Given the description of an element on the screen output the (x, y) to click on. 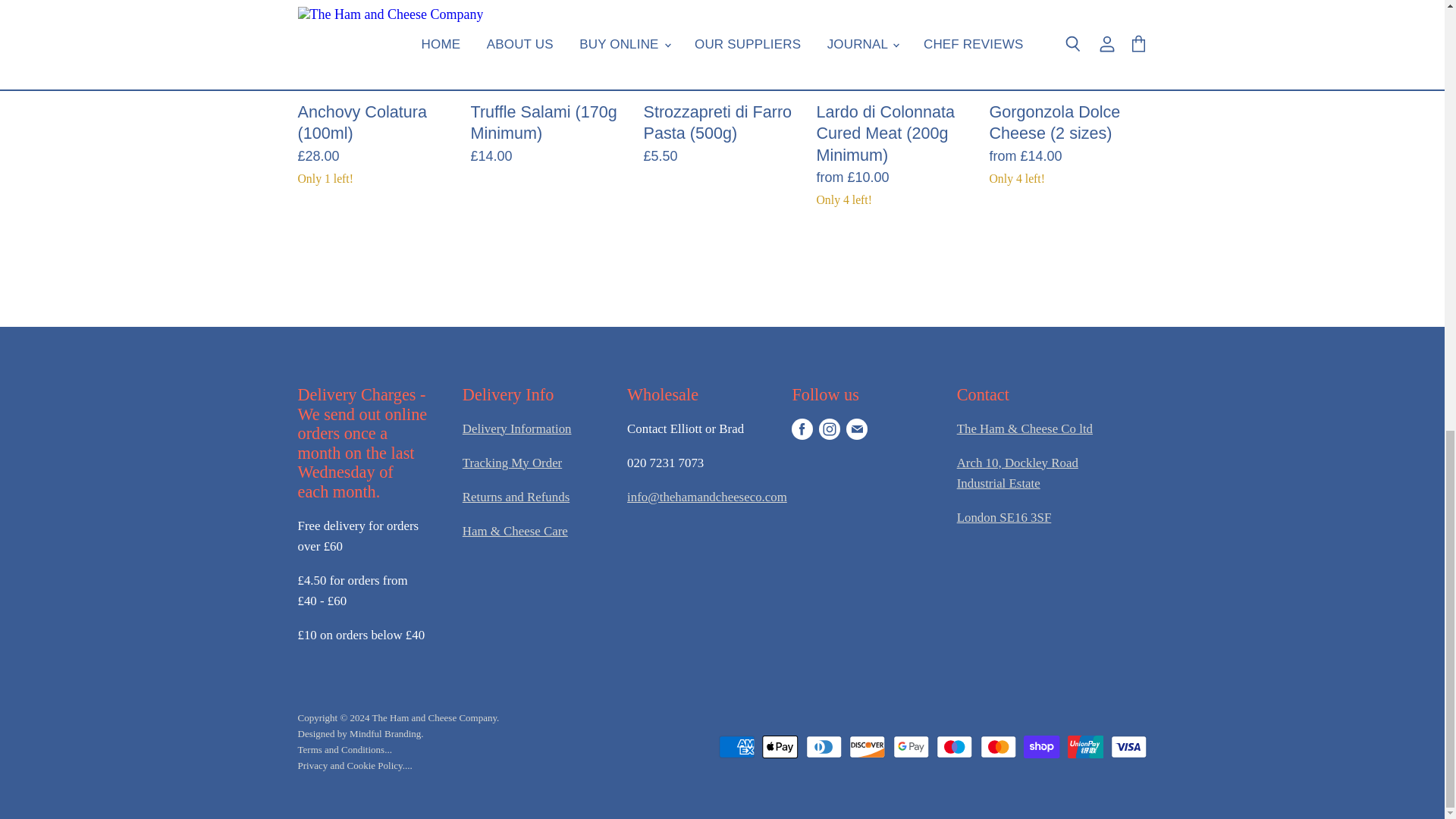
Contact Us (1017, 472)
Privacy and Cookie Policy (354, 765)
Facebook (802, 429)
Instagram (829, 429)
E-mail (856, 429)
Contact Us (1024, 428)
Delivery Details (517, 428)
Returns and Refunds (516, 496)
Contact Us (1003, 517)
Tracking My Order (512, 462)
Cheese and Salumi Care (515, 531)
Contact Us (707, 496)
Terms and Conditions (344, 749)
